Given the description of an element on the screen output the (x, y) to click on. 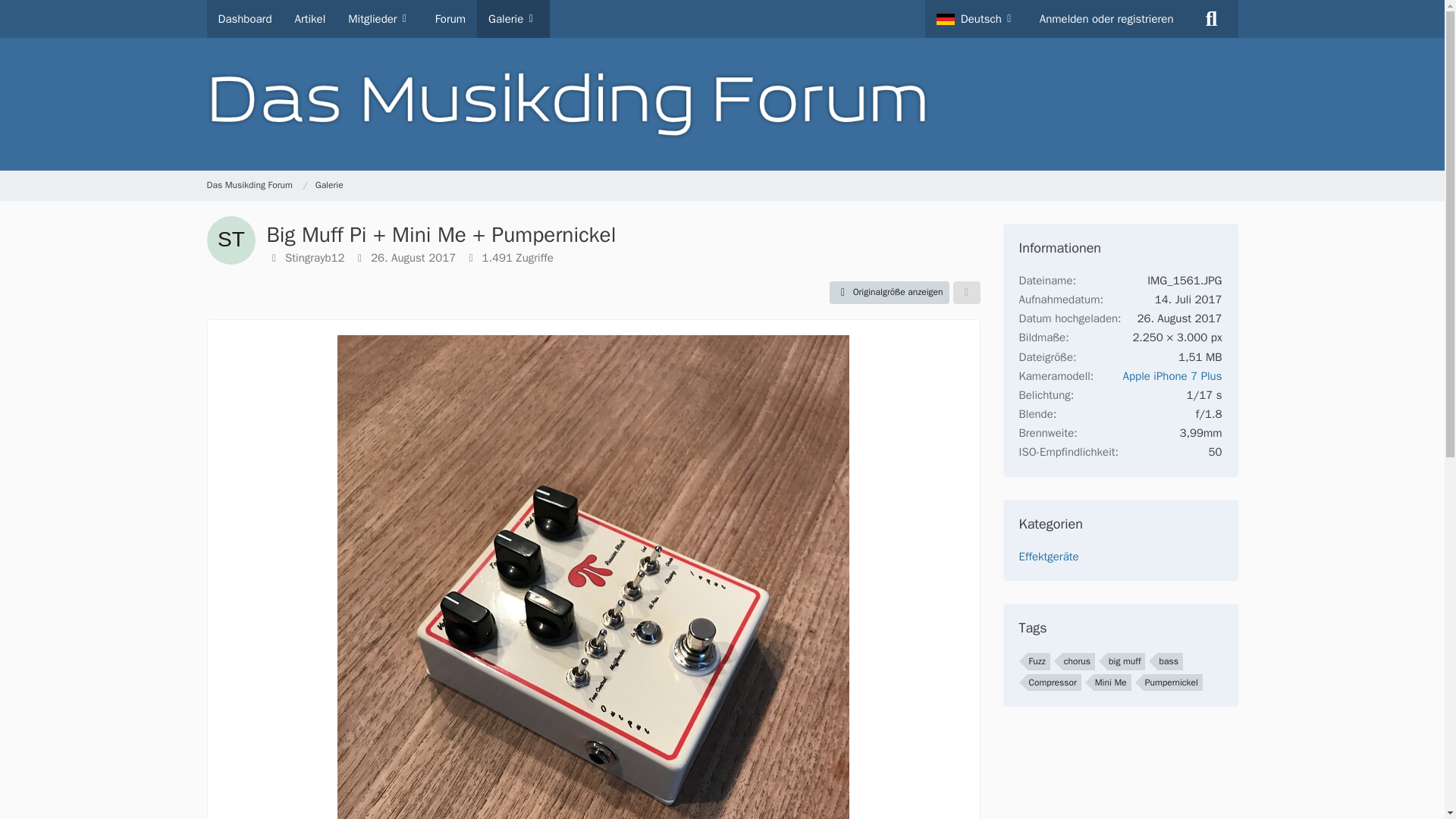
Anmelden oder registrieren (1106, 18)
Apple iPhone 7 Plus (1172, 376)
Das Musikding Forum (249, 185)
Fuzz (1037, 661)
Artikel (310, 18)
Compressor (1053, 682)
Galerie (329, 185)
Das Musikding Forum (256, 185)
Dashboard (244, 18)
Stingrayb12 (315, 257)
Mini Me (1112, 682)
Pumpernickel (1172, 682)
chorus (1078, 661)
bass (1169, 661)
26. August 201726. August 2017 um 23:00 (413, 257)
